Given the description of an element on the screen output the (x, y) to click on. 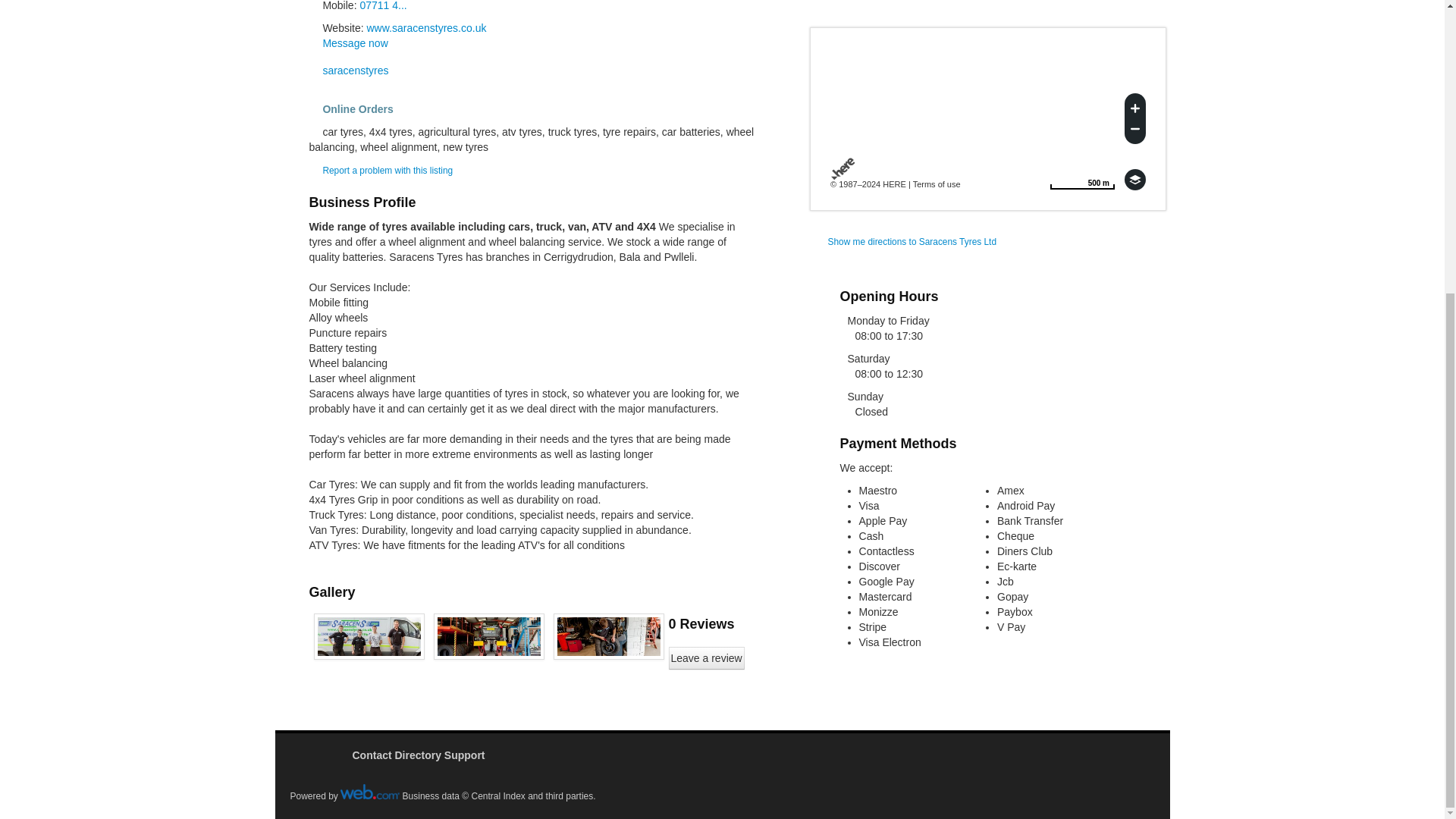
07711 4... (382, 5)
click to show number (382, 5)
Report a problem with this listing (386, 170)
Change to miles (1082, 179)
Choose view (1082, 179)
www.saracenstyres.co.uk (1134, 179)
Message now (426, 28)
saracenstyres (354, 42)
